Given the description of an element on the screen output the (x, y) to click on. 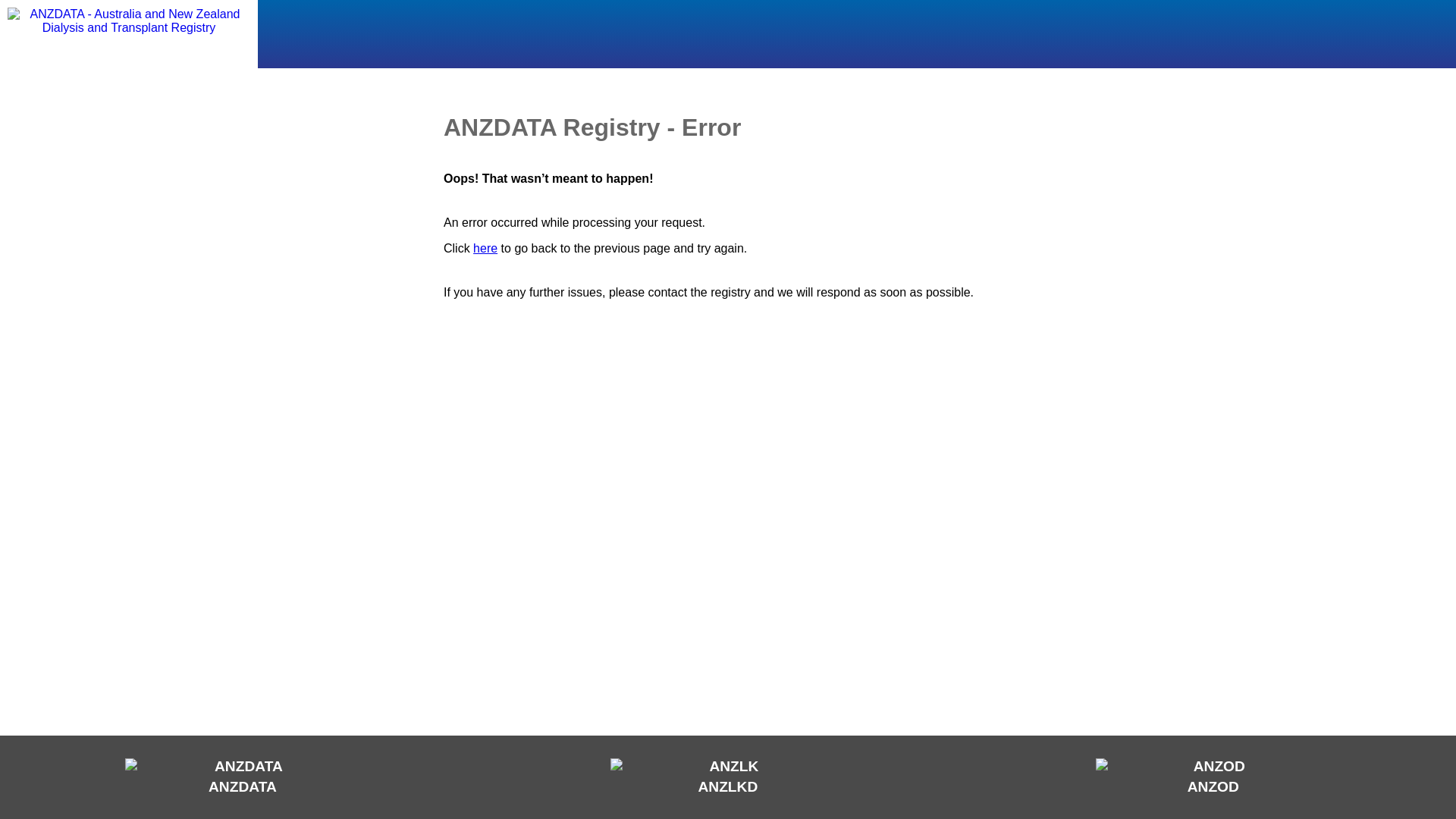
ANZDATA Element type: text (242, 776)
here Element type: text (485, 247)
ANZOD Element type: text (1213, 776)
ANZLKD Element type: text (727, 776)
